Given the description of an element on the screen output the (x, y) to click on. 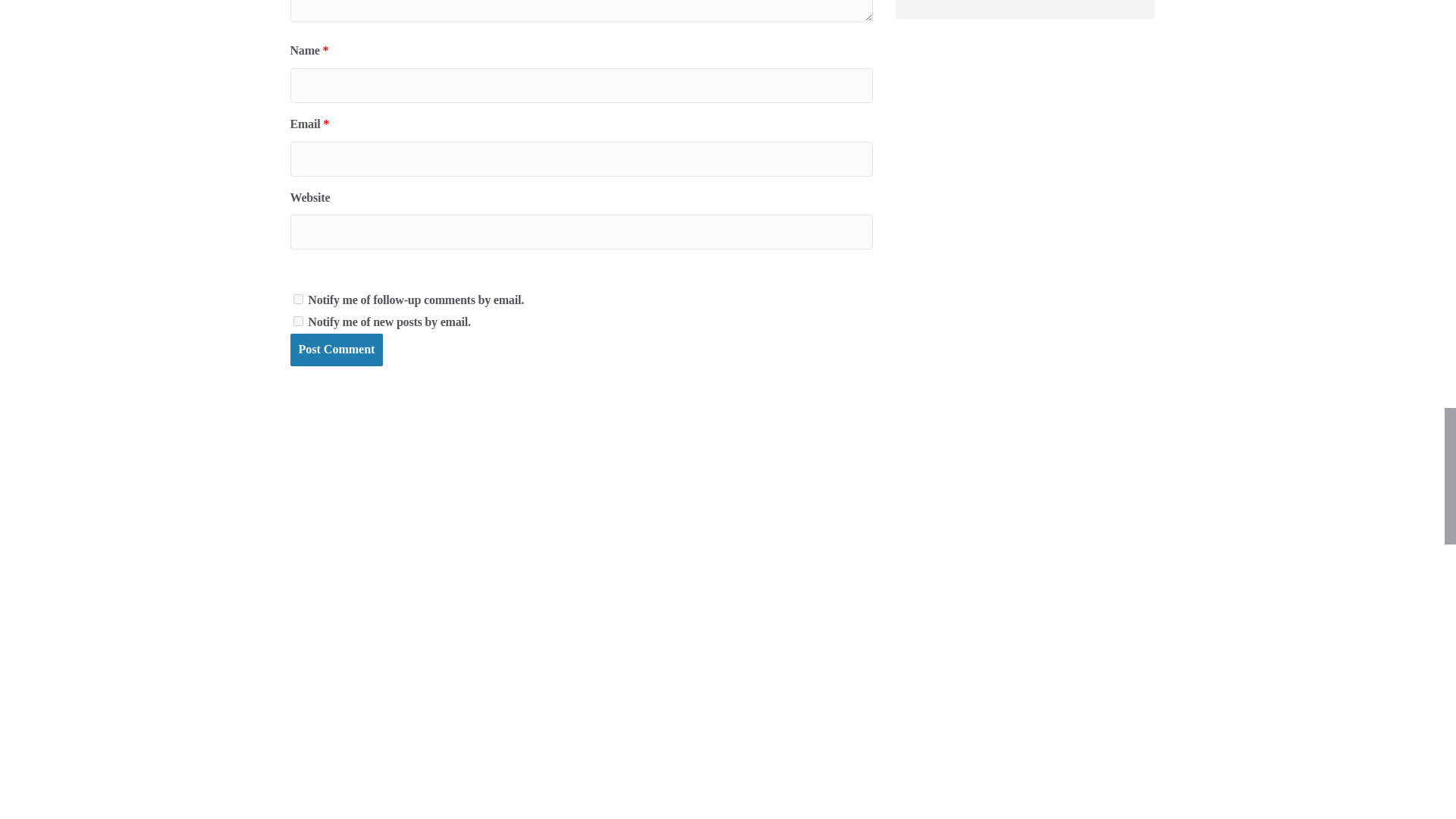
subscribe (297, 320)
subscribe (297, 298)
Advertisement (1024, 9)
Post Comment (335, 349)
